Given the description of an element on the screen output the (x, y) to click on. 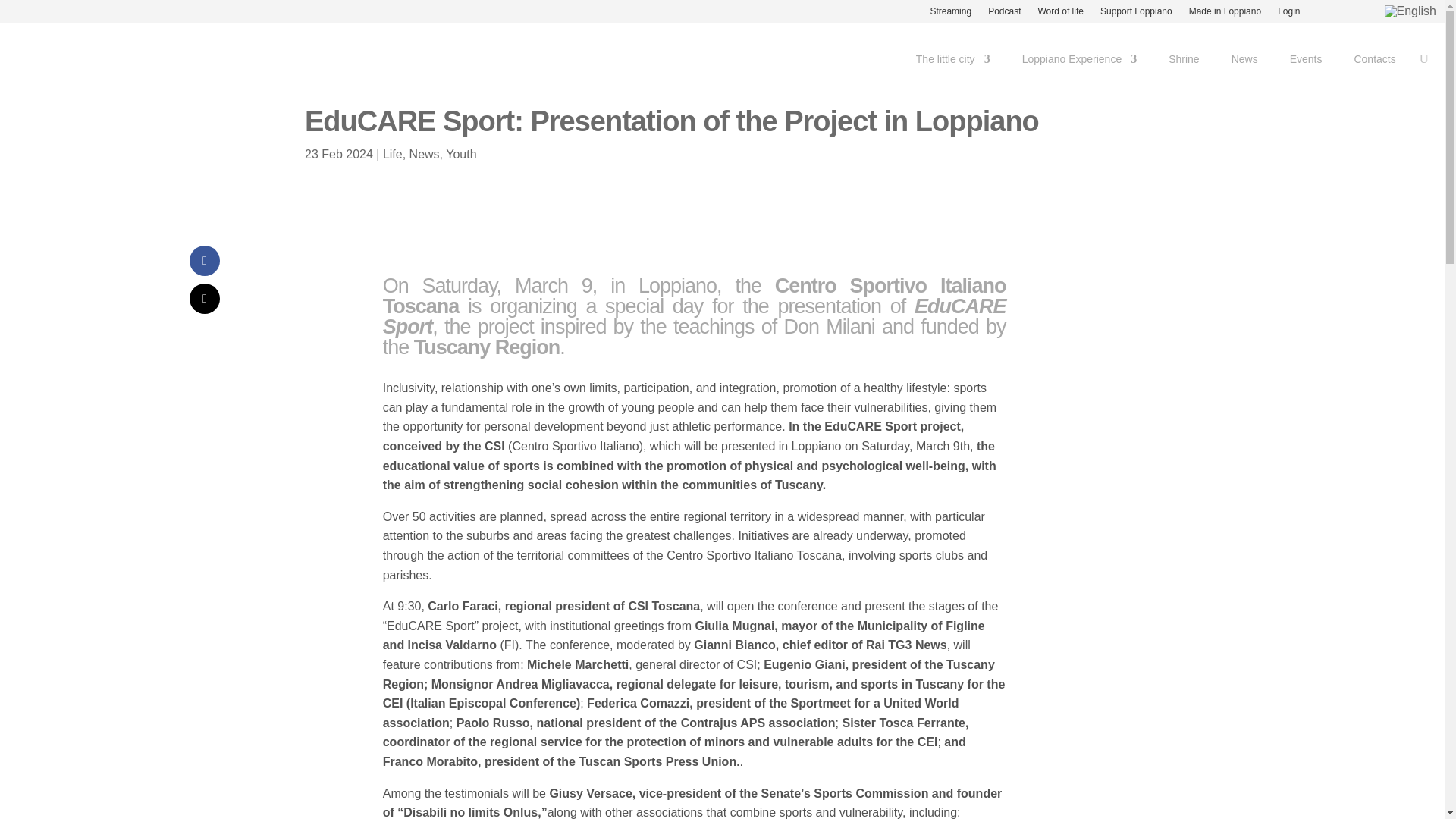
Word of life (1059, 13)
News (1244, 62)
Support Loppiano (1136, 13)
The little city (952, 62)
Podcast (1004, 13)
Streaming (950, 13)
Login (1289, 13)
Contacts (1374, 62)
Events (1306, 62)
Loppiano Experience (1079, 62)
